Given the description of an element on the screen output the (x, y) to click on. 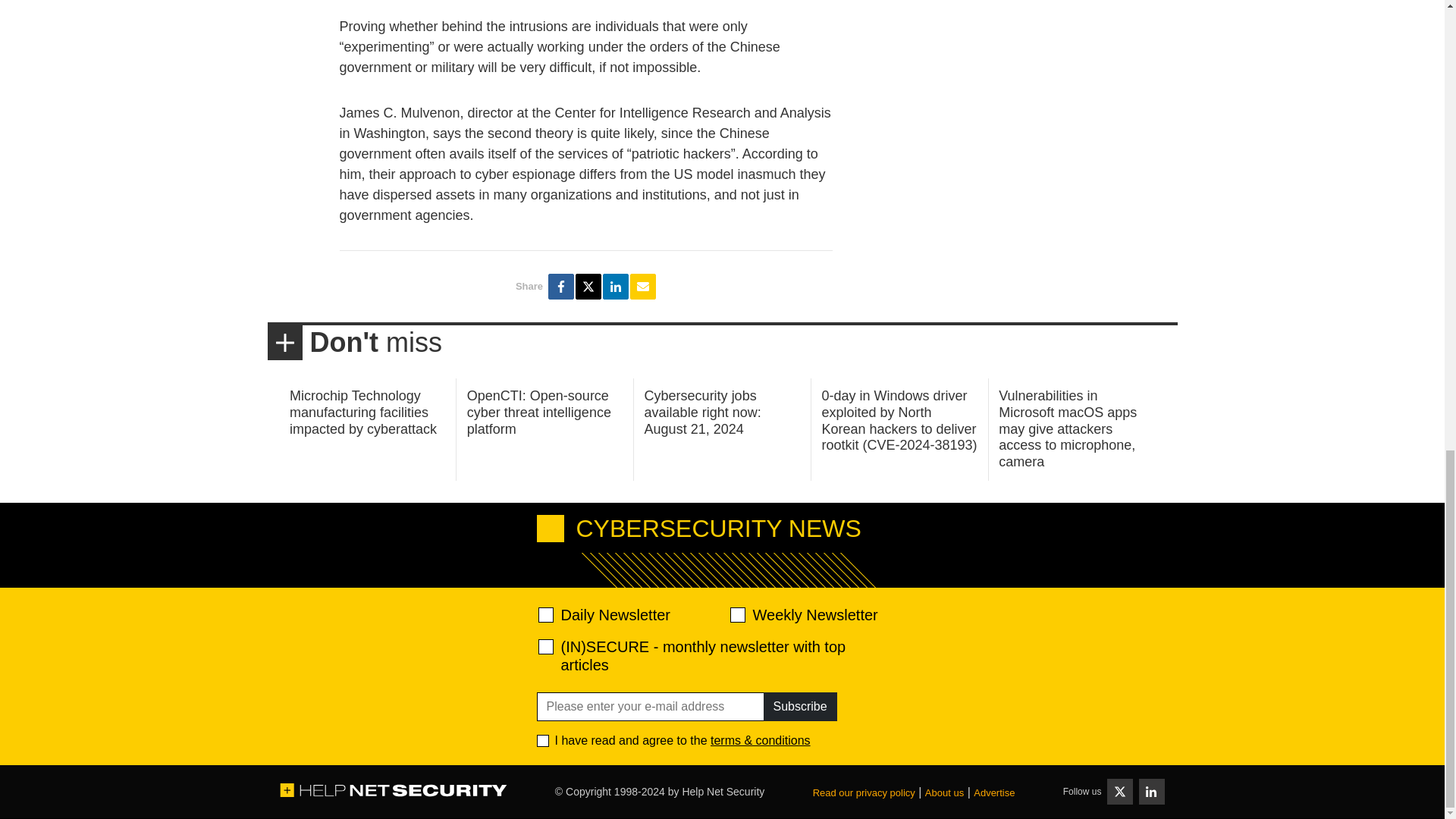
28abe5d9ef (545, 646)
d2d471aafa (736, 614)
1 (542, 740)
520ac2f639 (545, 614)
